Given the description of an element on the screen output the (x, y) to click on. 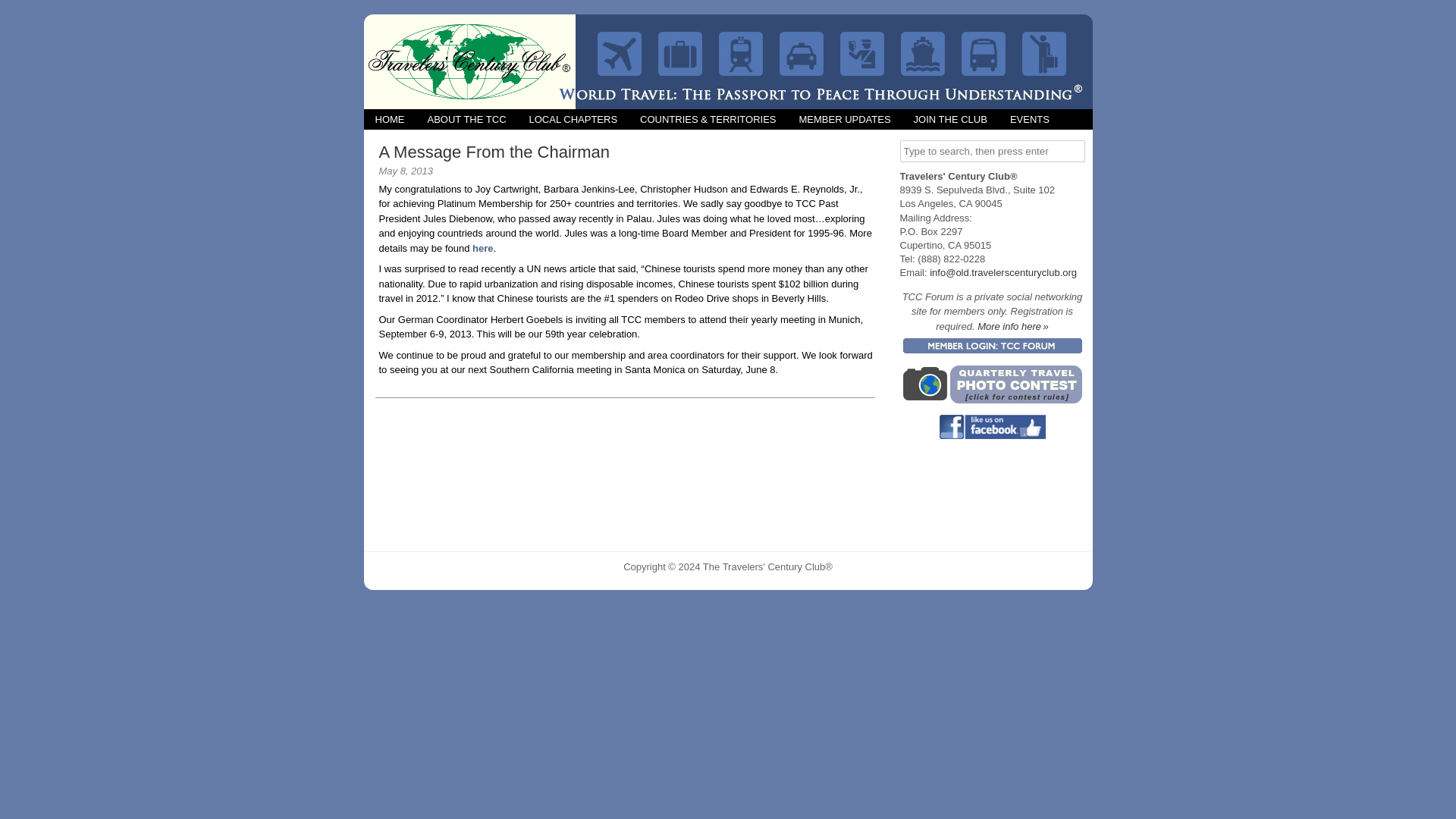
HOME (390, 118)
Type to search, then press enter (991, 151)
LOCAL CHAPTERS (573, 118)
ABOUT THE TCC (465, 118)
